Given the description of an element on the screen output the (x, y) to click on. 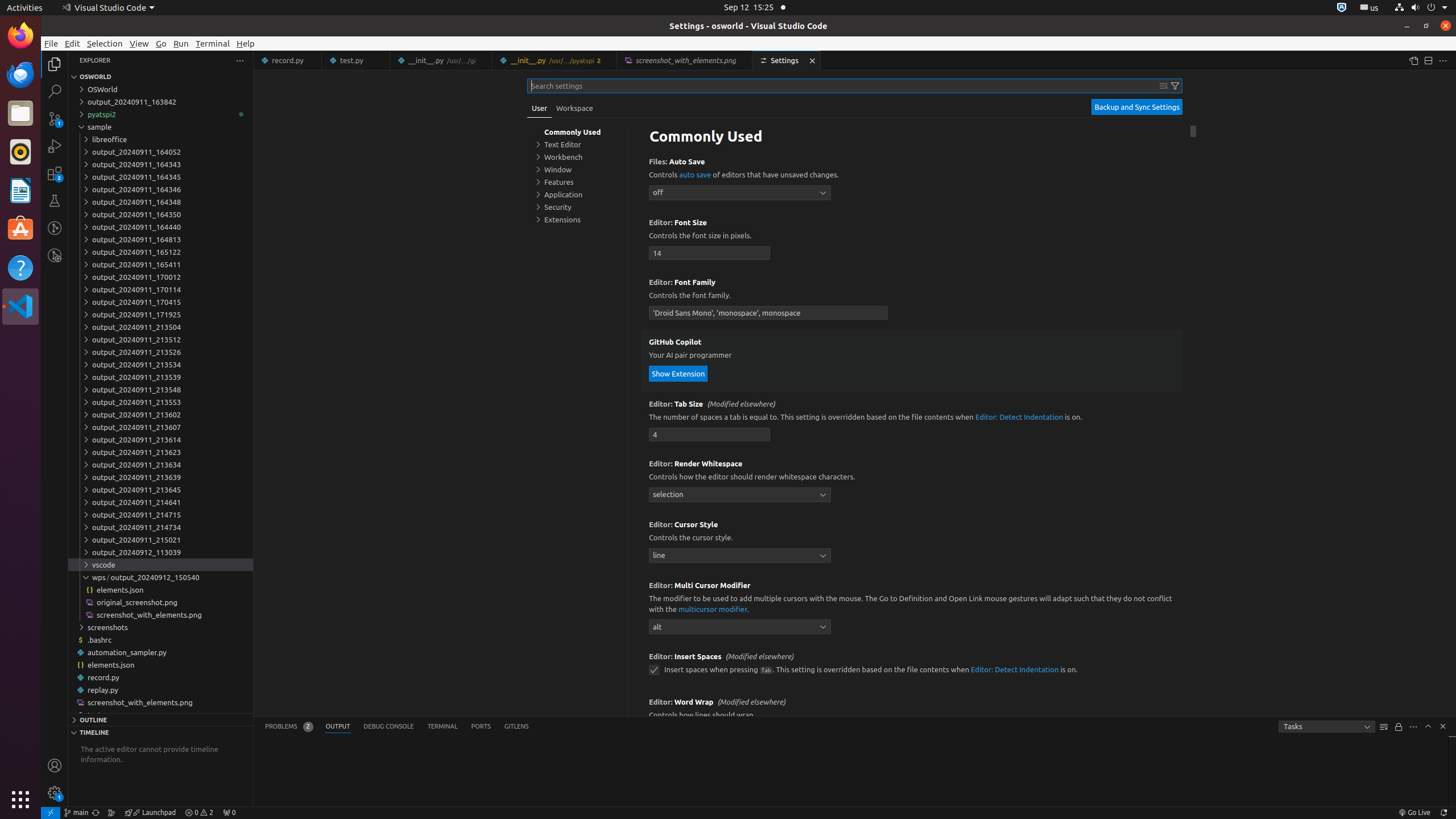
Run Element type: push-button (181, 43)
Run and Debug (Ctrl+Shift+D) Element type: page-tab (54, 145)
Security, group Element type: tree-item (577, 206)
More Actions... (Shift+F9) Element type: push-button (634, 700)
